Given the description of an element on the screen output the (x, y) to click on. 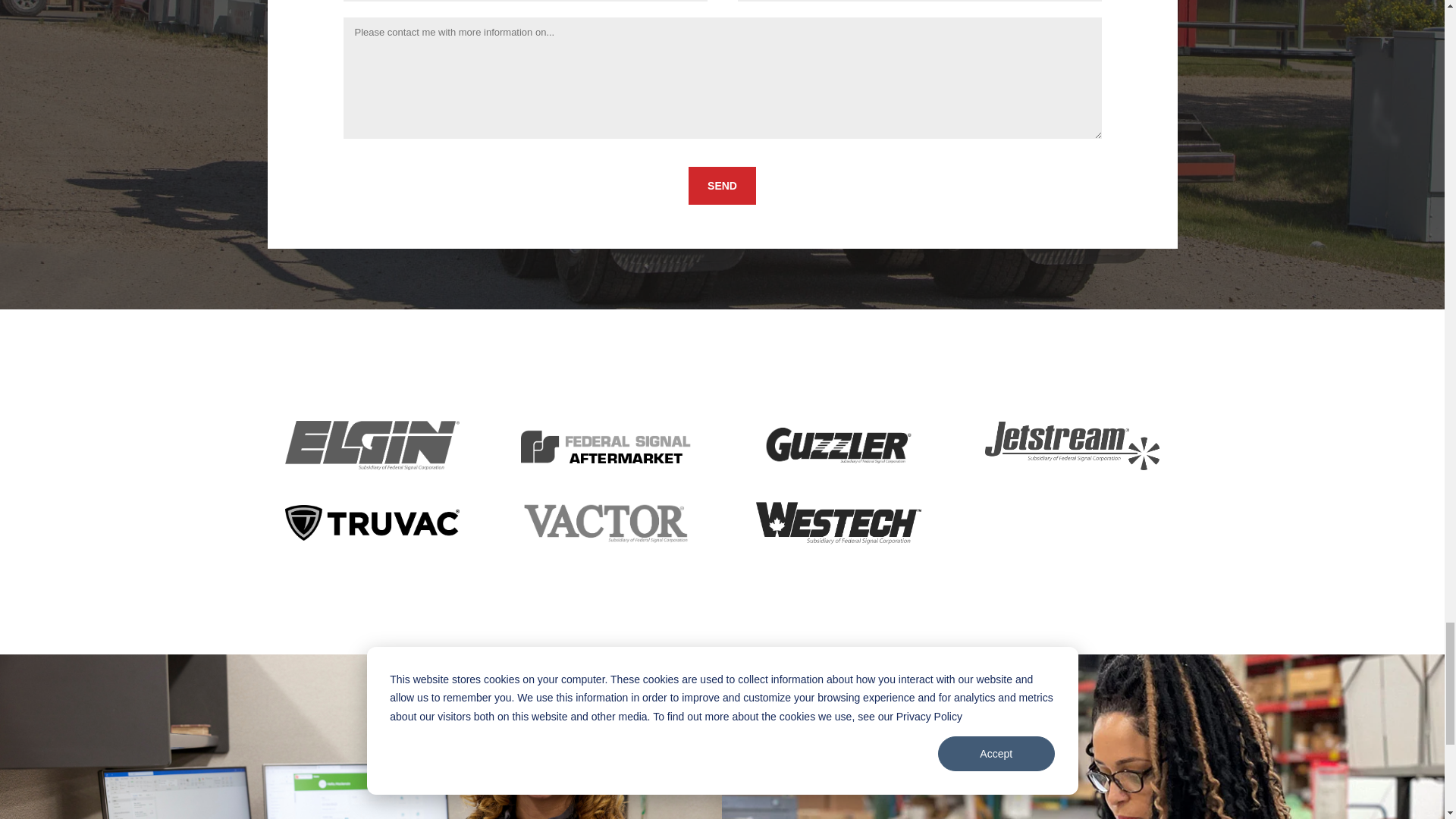
Send (721, 185)
Send (721, 185)
